Given the description of an element on the screen output the (x, y) to click on. 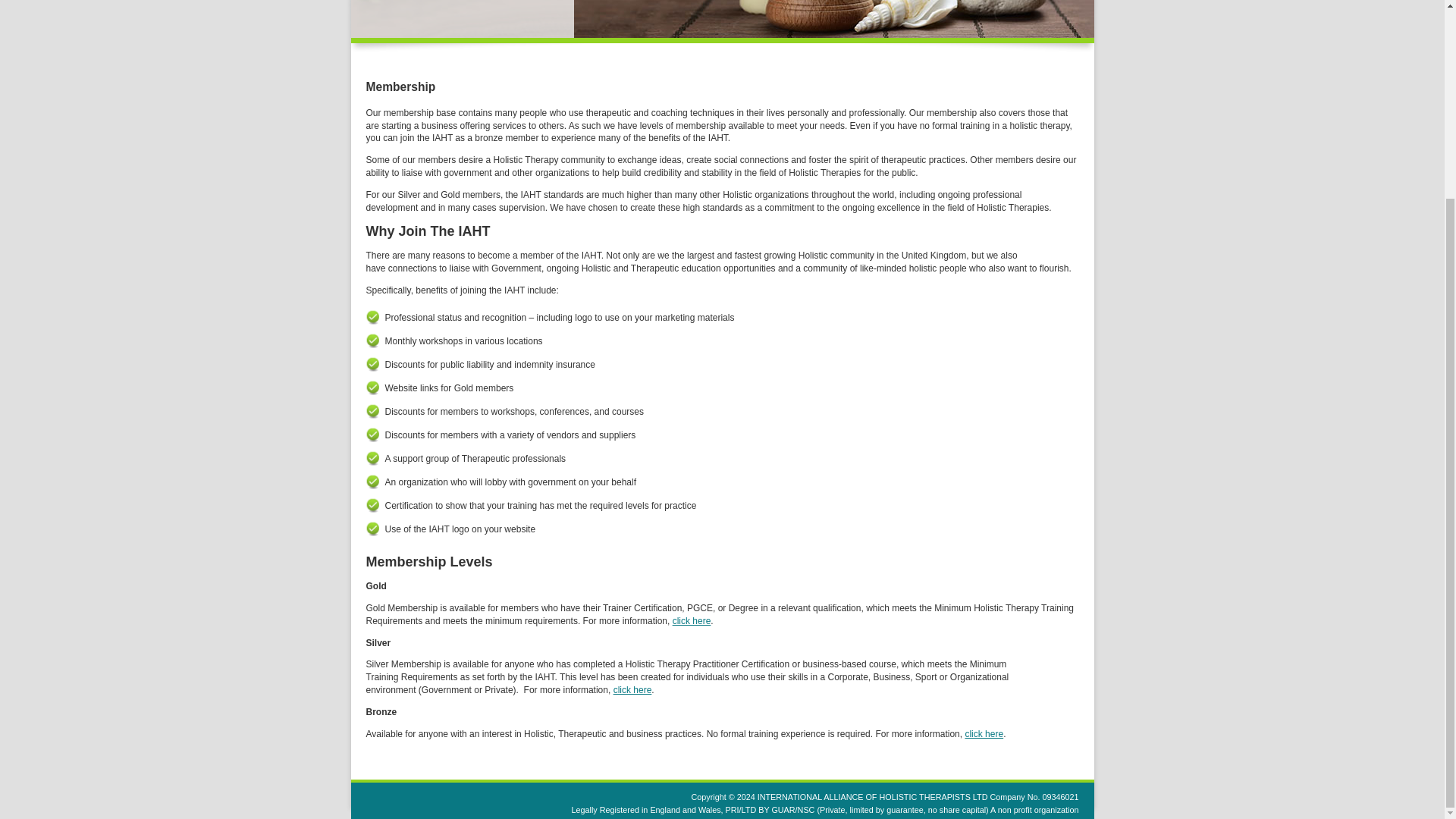
click here (983, 733)
click here (632, 689)
click here (691, 620)
